Given the description of an element on the screen output the (x, y) to click on. 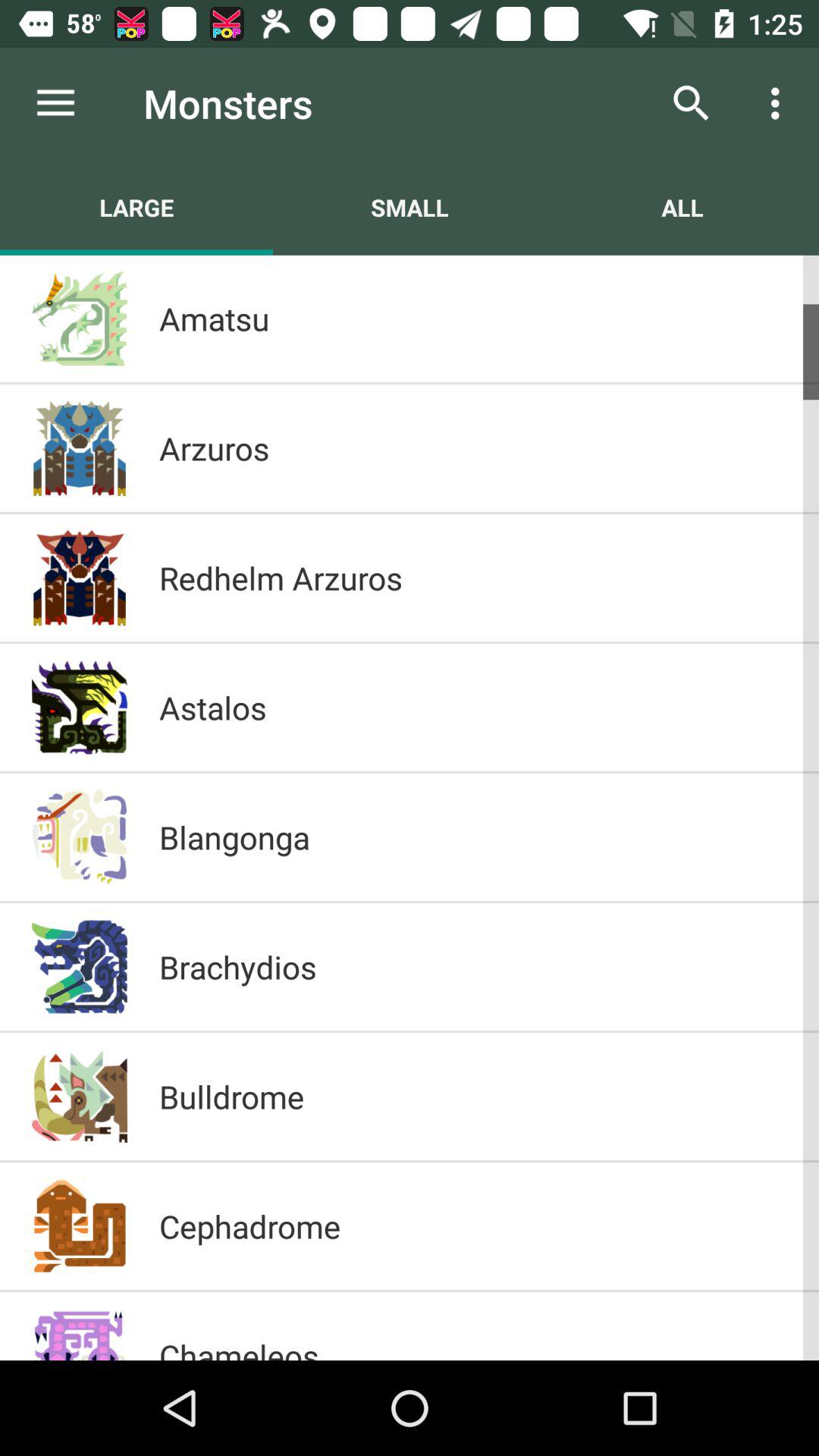
jump until bulldrome item (473, 1096)
